Given the description of an element on the screen output the (x, y) to click on. 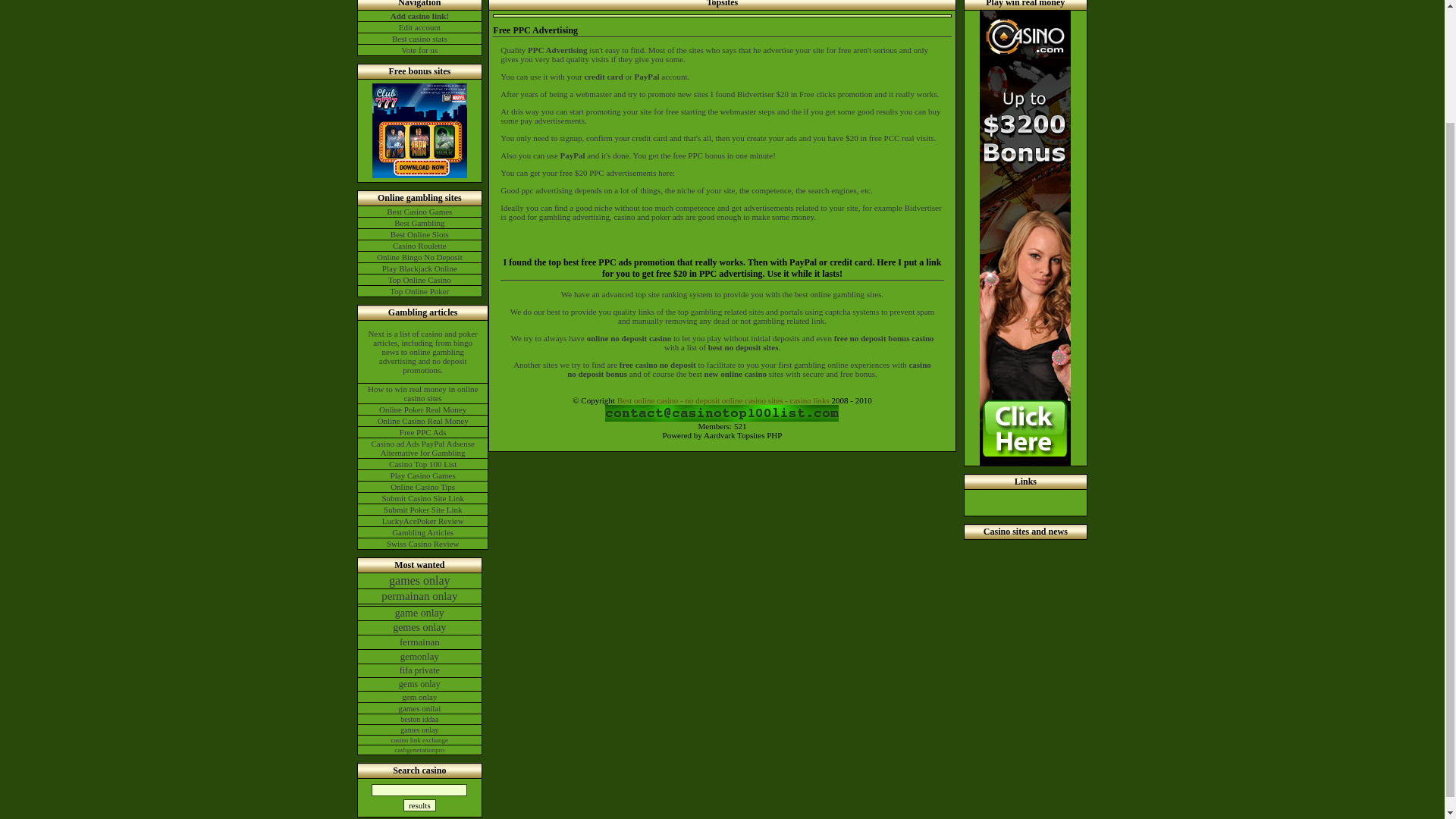
games onlay (419, 580)
Top Online Casino (419, 279)
Submit Casino Site Link (422, 498)
Online Casino Tips (422, 486)
Swiss Casino Review (422, 543)
Best Casino Games (419, 211)
Best Gambling (419, 222)
Play Casino Games (422, 475)
Casino Roulette (419, 245)
gems onlay (419, 684)
